Given the description of an element on the screen output the (x, y) to click on. 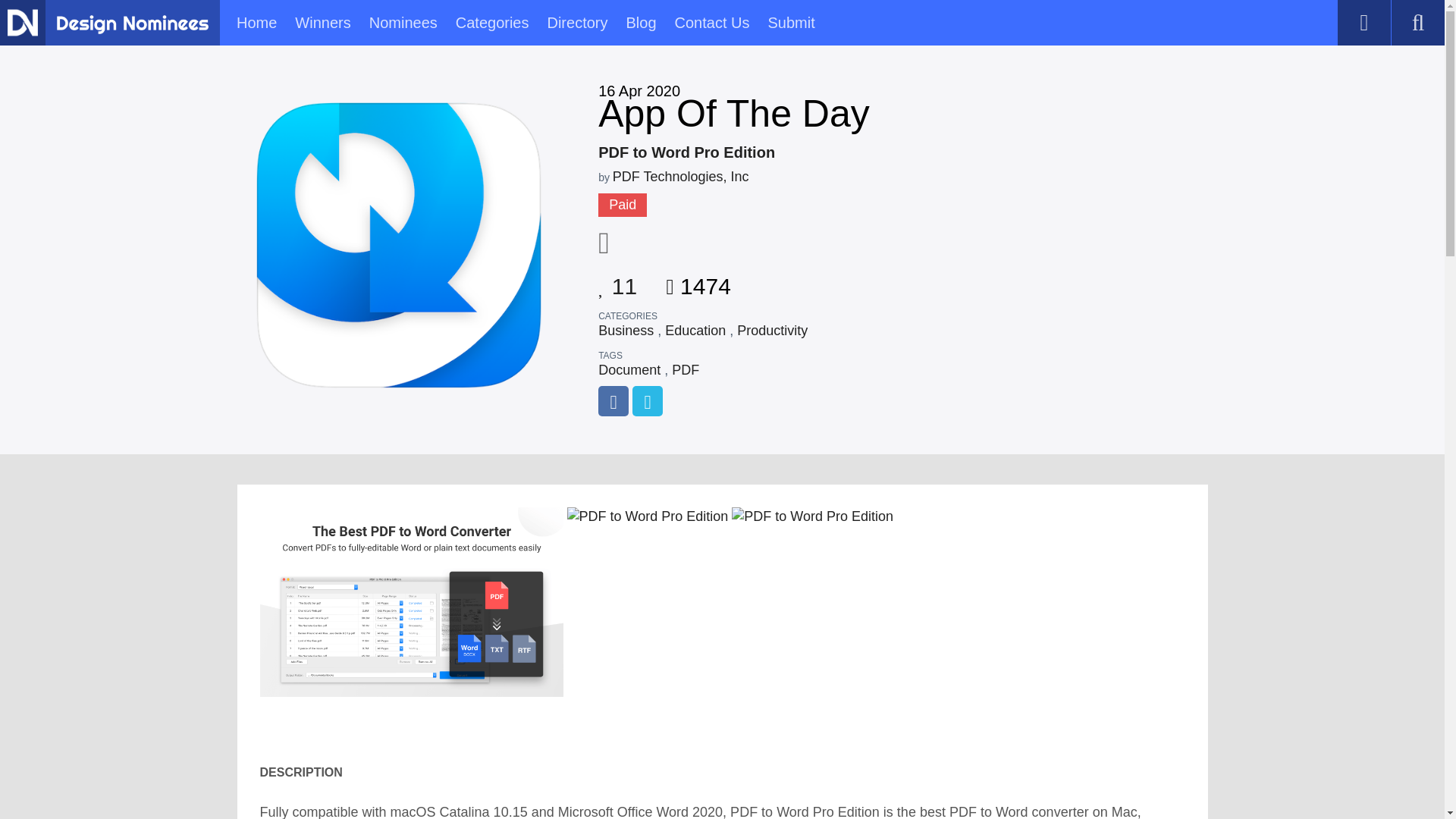
PDF (684, 369)
Categories (492, 22)
Submit (790, 22)
Design Nominees (132, 24)
Directory (577, 22)
11 (617, 281)
Contact Us (712, 22)
Winners (322, 22)
Education (695, 330)
Document (629, 369)
